Given the description of an element on the screen output the (x, y) to click on. 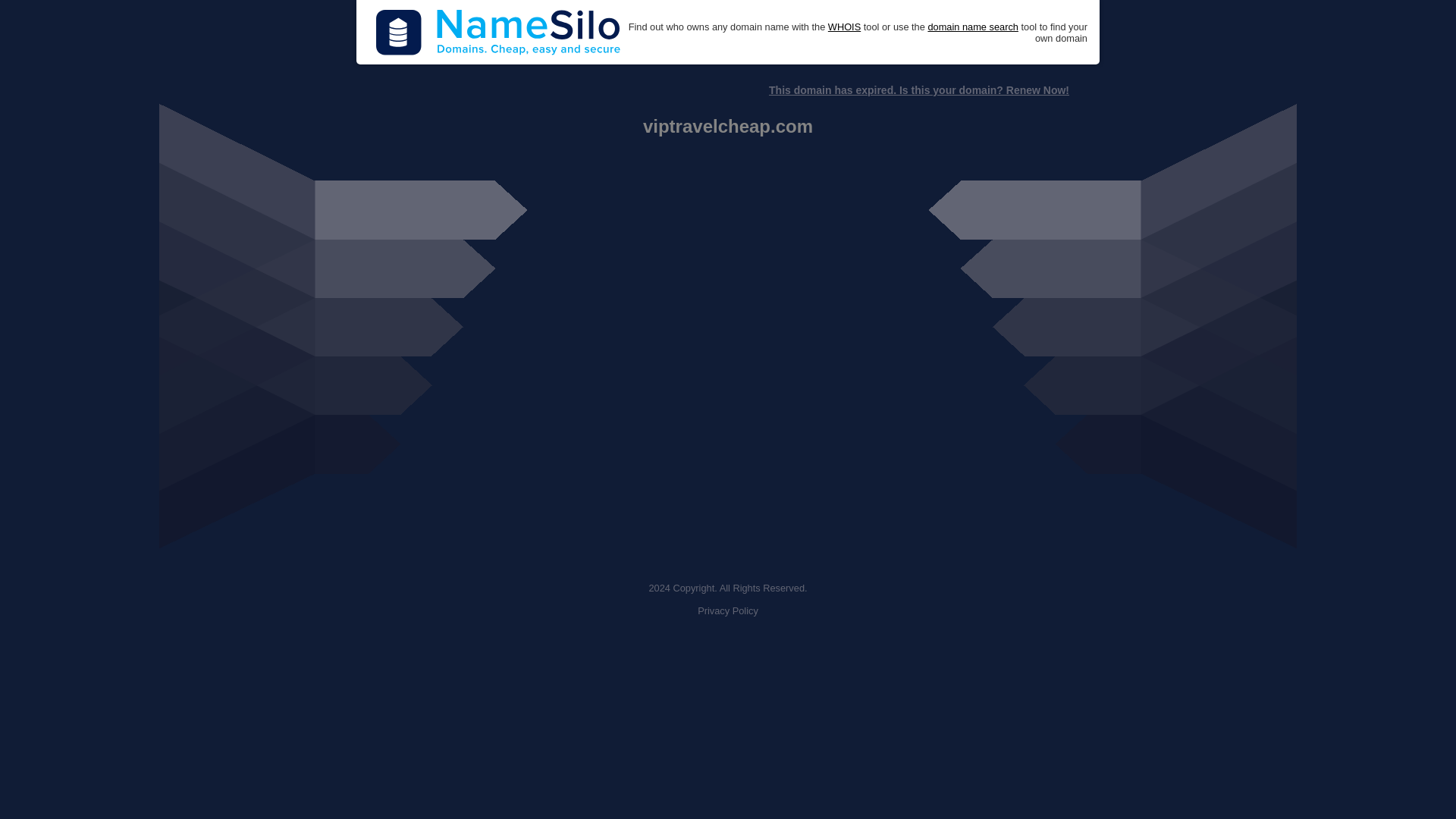
This domain has expired. Is this your domain? Renew Now! (918, 90)
domain name search (972, 26)
Privacy Policy (727, 610)
WHOIS (844, 26)
